Given the description of an element on the screen output the (x, y) to click on. 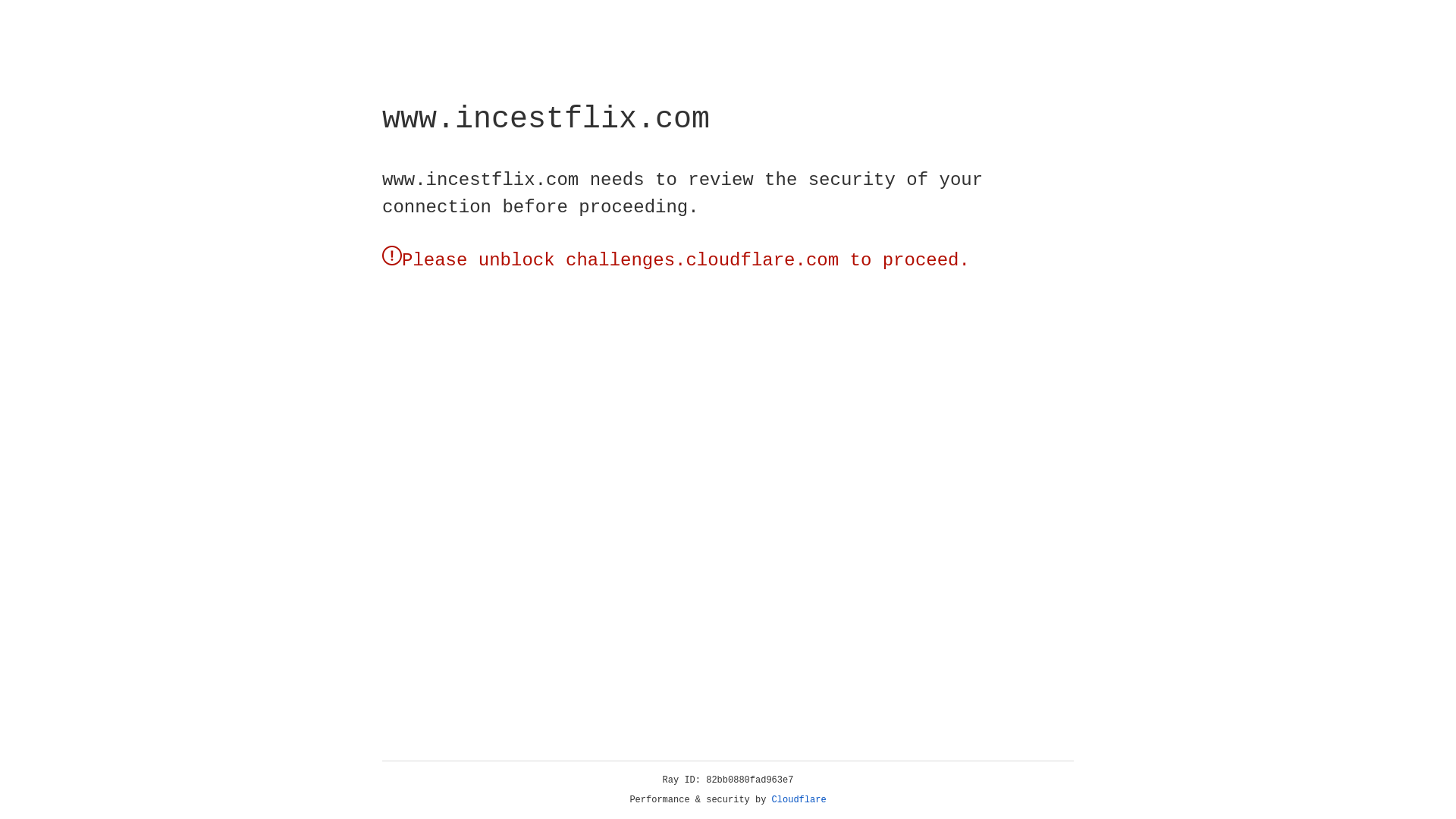
Cloudflare Element type: text (798, 799)
